Given the description of an element on the screen output the (x, y) to click on. 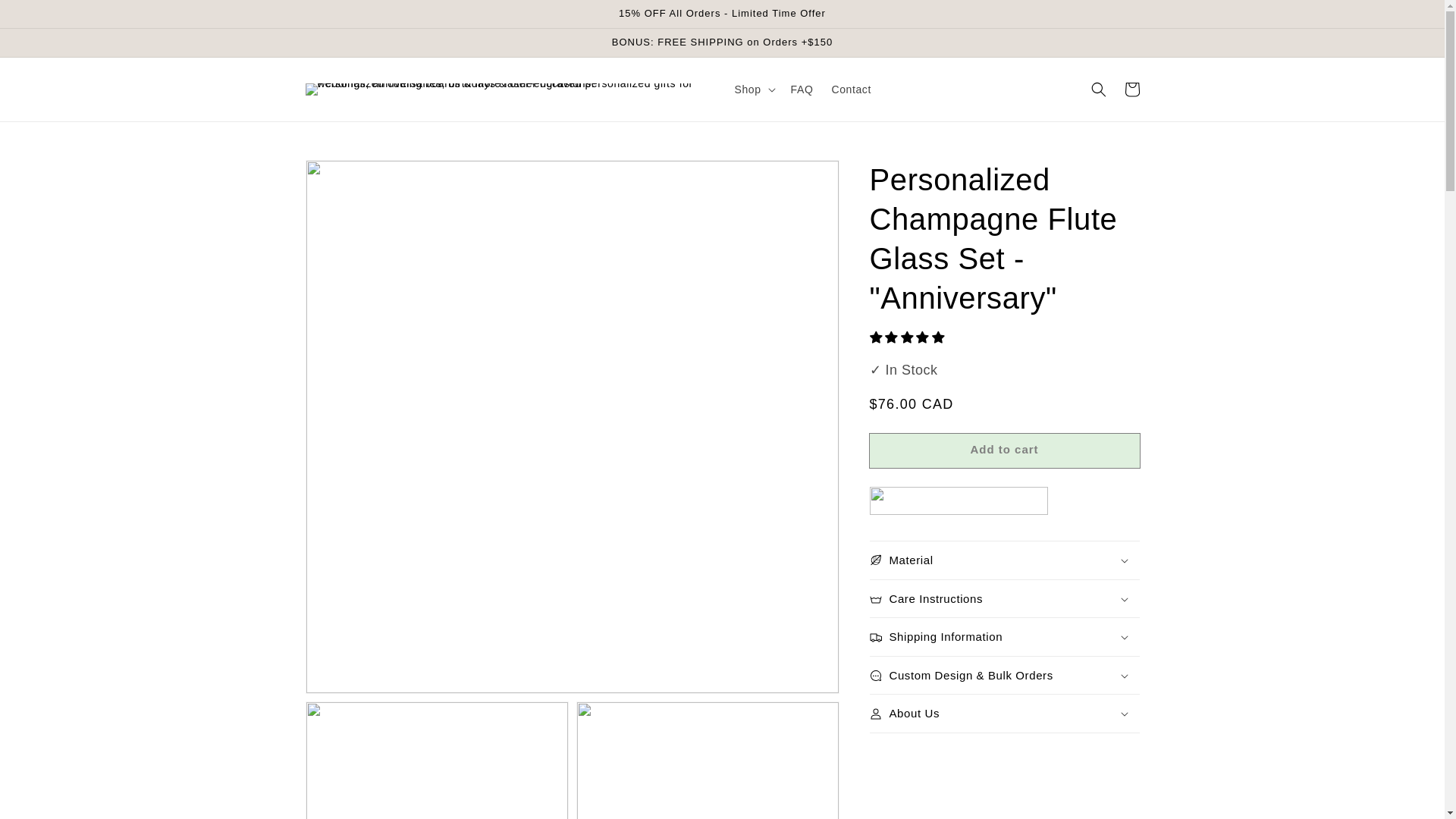
Skip to product information (350, 175)
Cart (1131, 89)
Contact (850, 89)
FAQ (801, 89)
Add to cart (1003, 450)
Skip to content (45, 16)
